Given the description of an element on the screen output the (x, y) to click on. 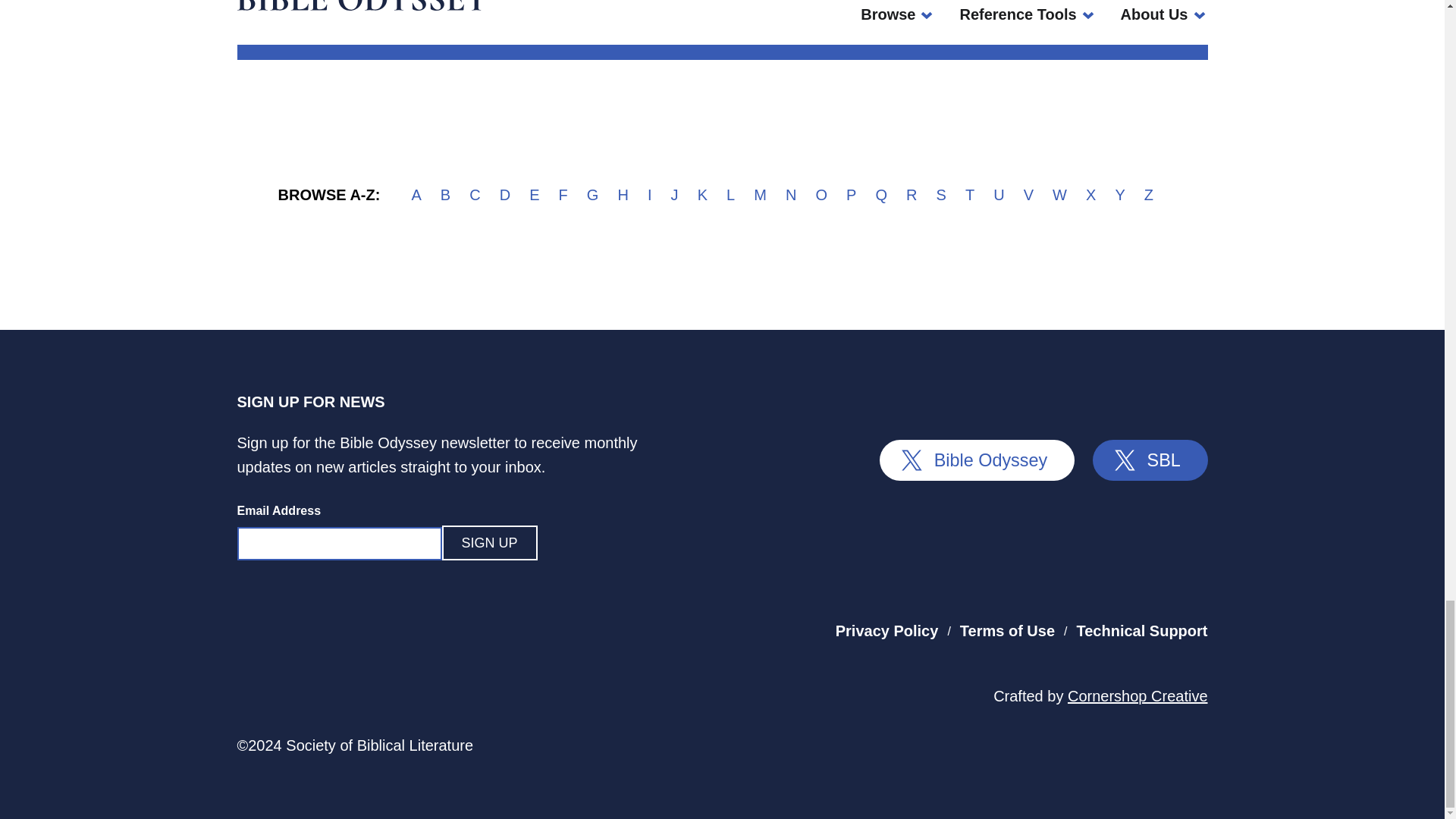
Sign Up (489, 542)
 - opens in a new window (976, 459)
 - opens in a new window (900, 550)
 - opens in a new window (1150, 459)
 - opens in a new window (1137, 695)
